Given the description of an element on the screen output the (x, y) to click on. 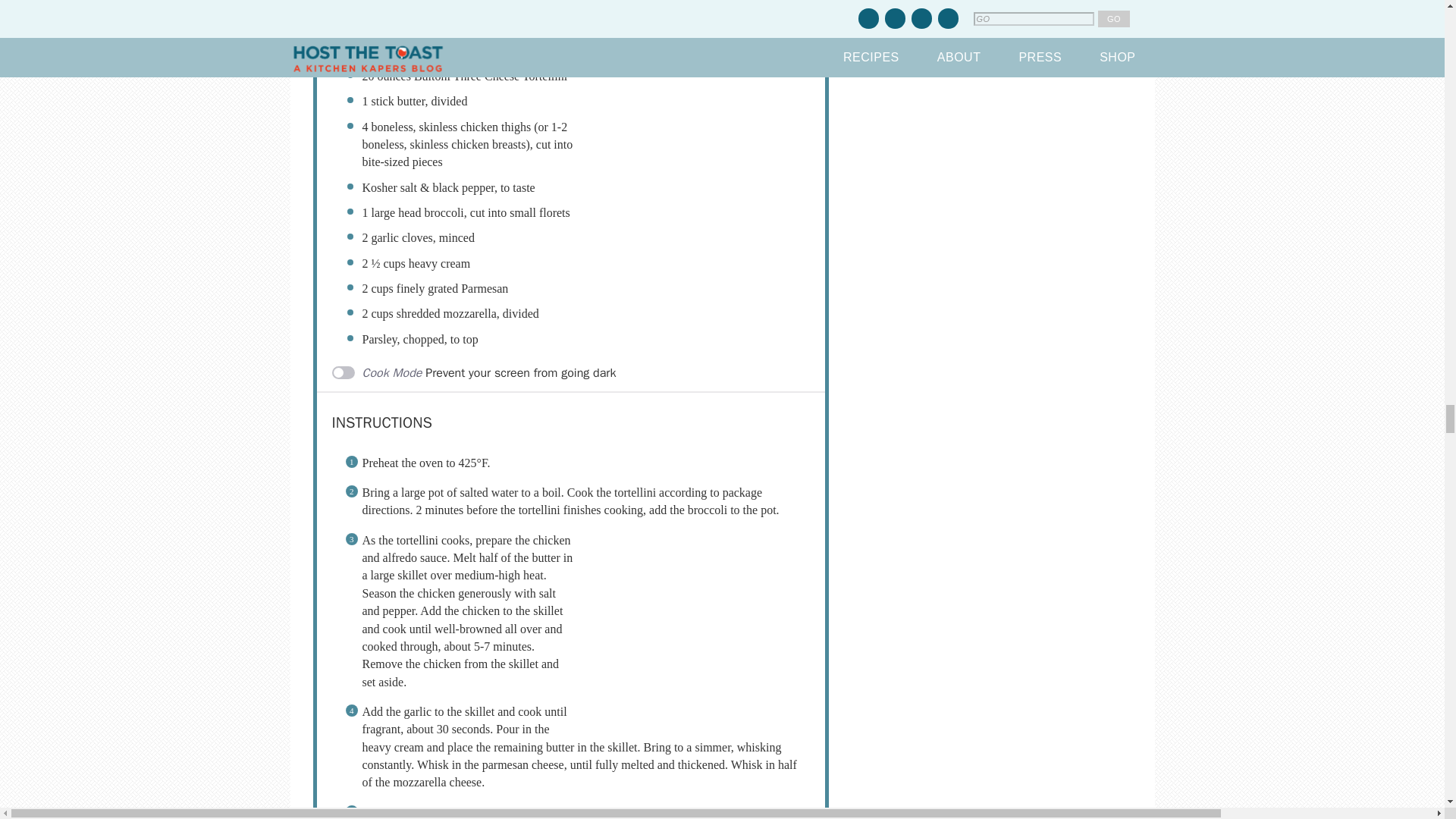
M (674, 12)
2X (766, 12)
1X (738, 12)
US (644, 12)
3X (796, 12)
